Given the description of an element on the screen output the (x, y) to click on. 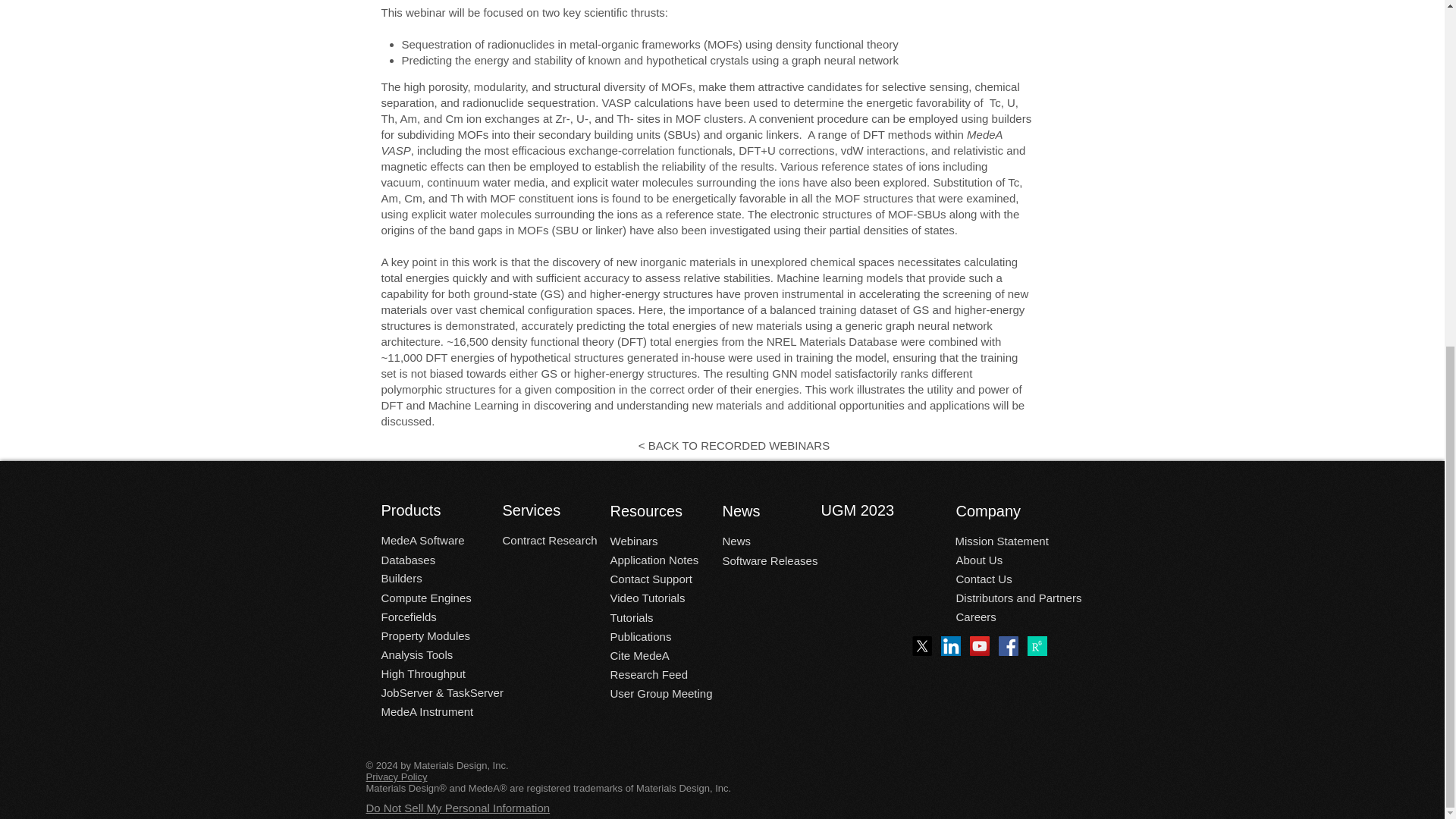
MedeA Software (422, 539)
Builders (401, 578)
Products (425, 510)
